Given the description of an element on the screen output the (x, y) to click on. 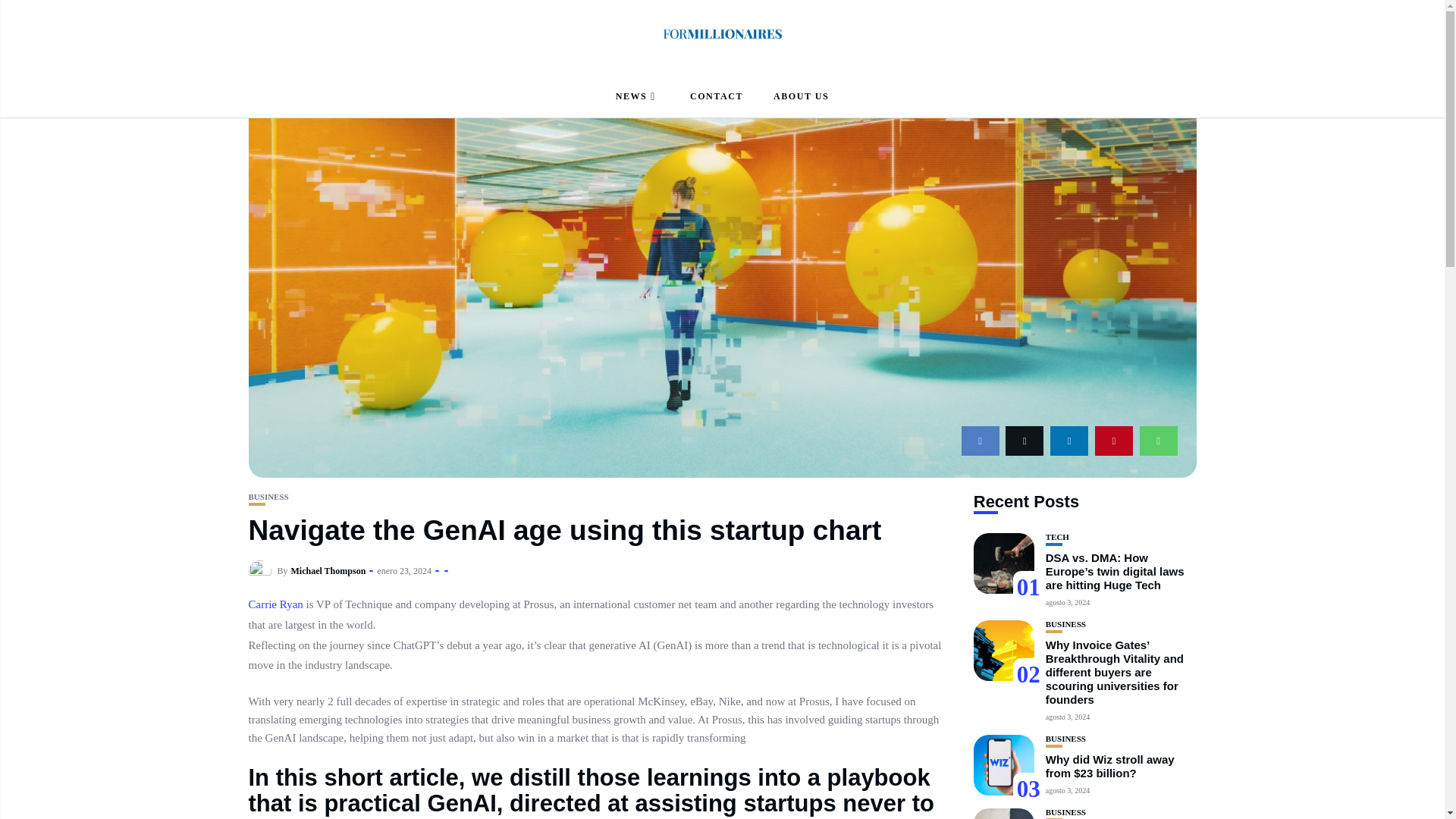
Michael Thompson (328, 570)
ABOUT US (800, 96)
NEWS (637, 96)
CONTACT (716, 96)
TECH (1056, 537)
BUSINESS (268, 497)
Carrie Ryan (275, 604)
facebook (979, 440)
Entradas de Michael Thompson (328, 570)
